Given the description of an element on the screen output the (x, y) to click on. 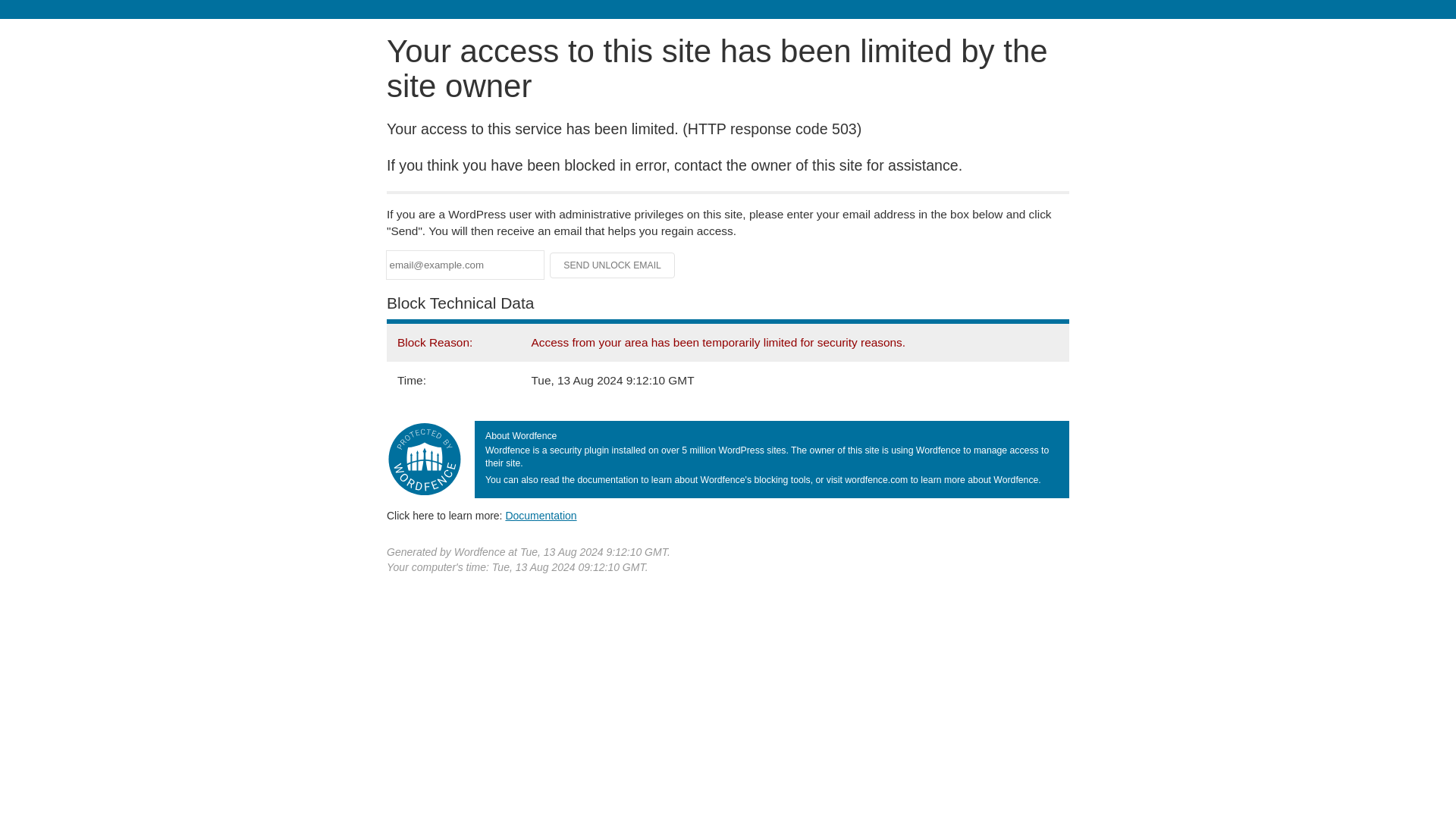
Send Unlock Email (612, 265)
Documentation (540, 515)
Send Unlock Email (612, 265)
